Given the description of an element on the screen output the (x, y) to click on. 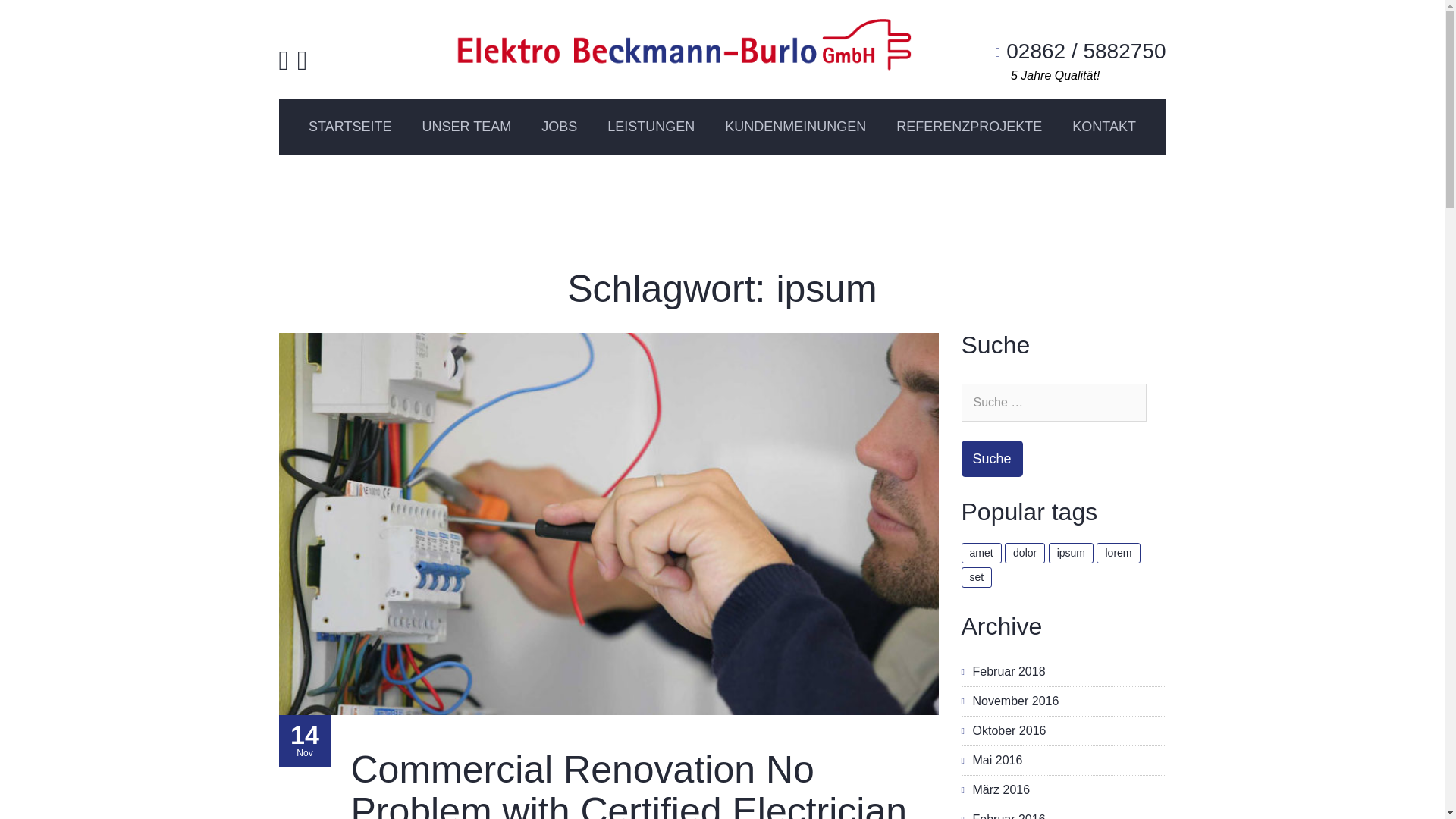
LEISTUNGEN (651, 126)
Commercial Renovation No Problem with Certified Electrician (628, 783)
JOBS (558, 126)
KONTAKT (1104, 126)
STARTSEITE (350, 126)
KUNDENMEINUNGEN (795, 126)
Suche (991, 458)
UNSER TEAM (465, 126)
Suche (305, 739)
